Given the description of an element on the screen output the (x, y) to click on. 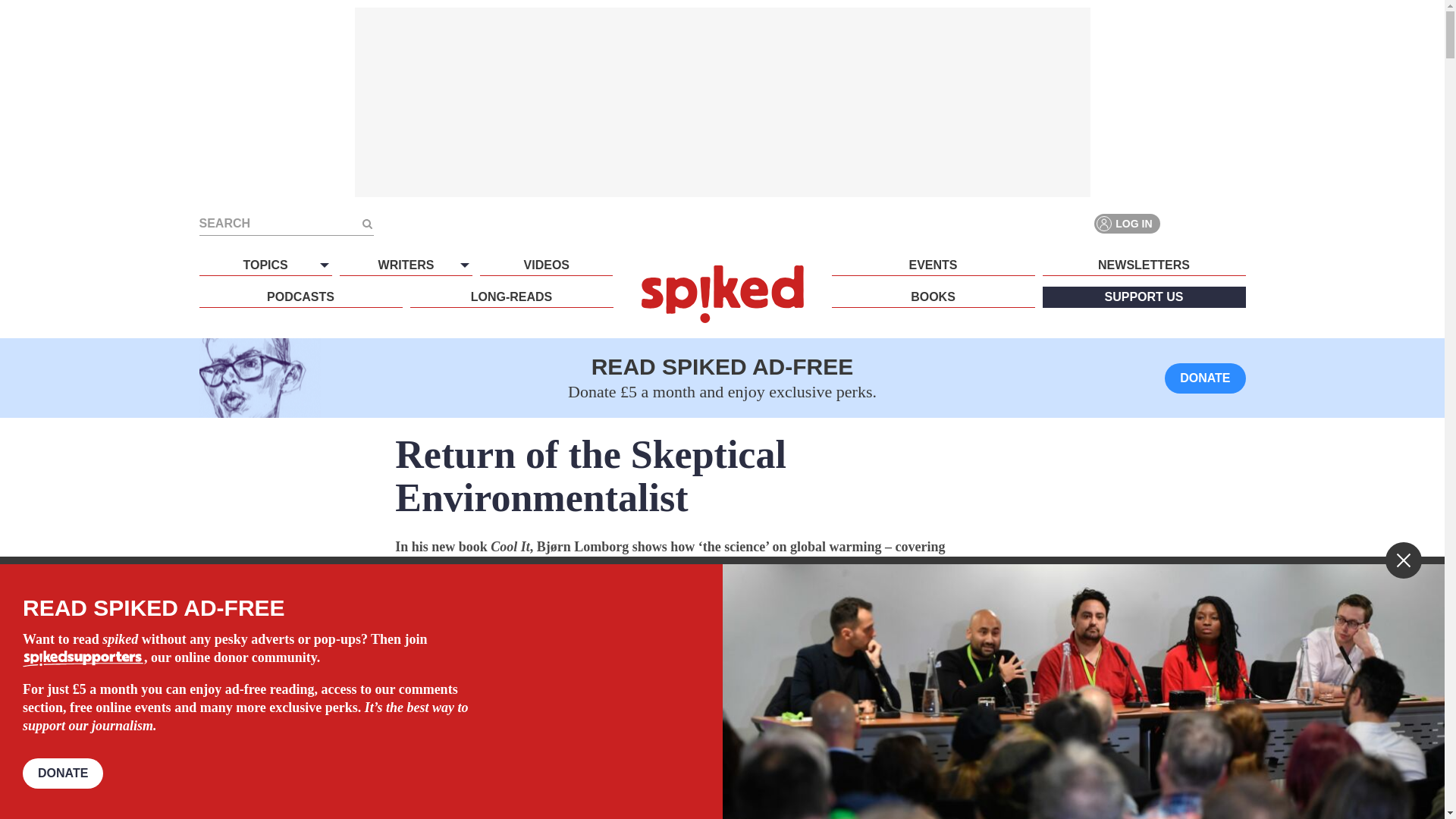
EVENTS (932, 265)
YouTube (1234, 223)
BOOKS (932, 296)
NEWSLETTERS (1143, 265)
LONG-READS (510, 296)
spiked - humanity is underrated (722, 293)
LOG IN (1126, 223)
TOPICS (264, 265)
Facebook (1180, 223)
Twitter (1207, 223)
WRITERS (405, 265)
PODCASTS (299, 296)
VIDEOS (546, 265)
SUPPORT US (1143, 296)
